Given the description of an element on the screen output the (x, y) to click on. 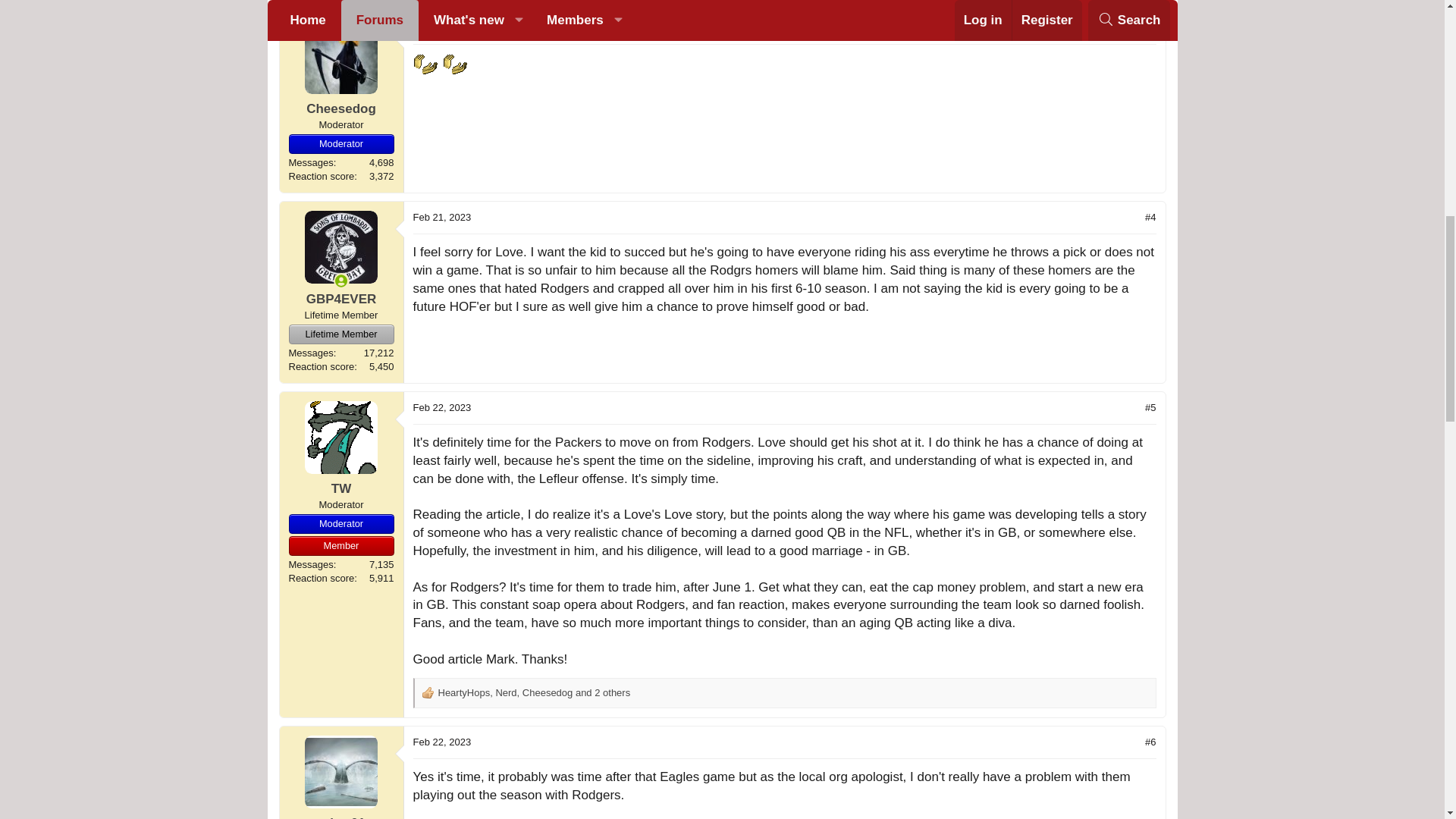
Feb 22, 2023 at 7:02 AM (441, 407)
Feb 21, 2023 at 8:49 PM (441, 27)
Like (427, 693)
Feb 21, 2023 at 9:12 PM (441, 216)
